Given the description of an element on the screen output the (x, y) to click on. 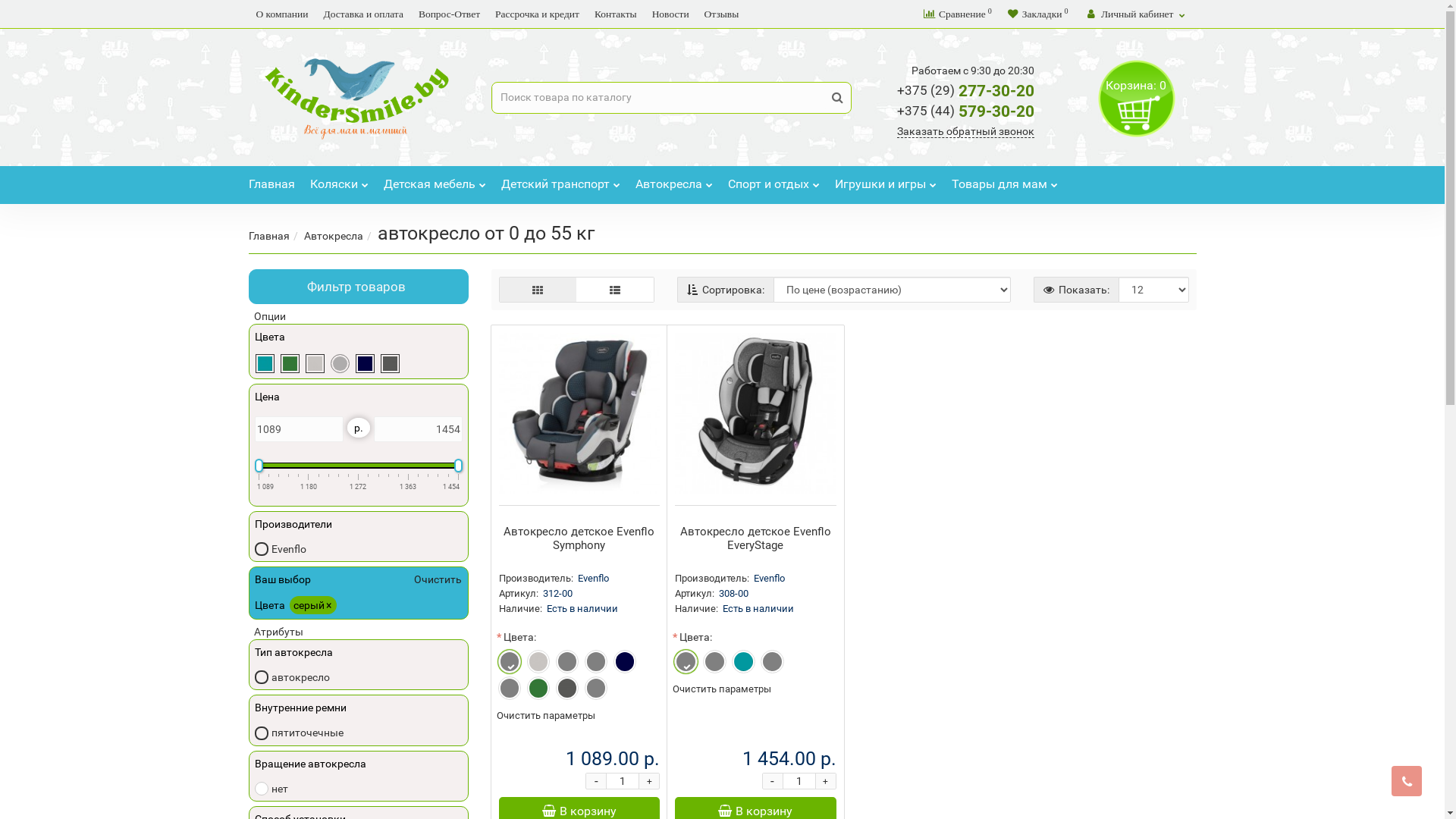
+375 (44) 579-30-20 Element type: text (965, 111)
+ Element type: text (648, 780)
- Element type: text (772, 780)
+375 (29) 277-30-20 Element type: text (965, 90)
- Element type: text (595, 780)
+ Element type: text (825, 780)
Evenflo Element type: text (280, 548)
